Given the description of an element on the screen output the (x, y) to click on. 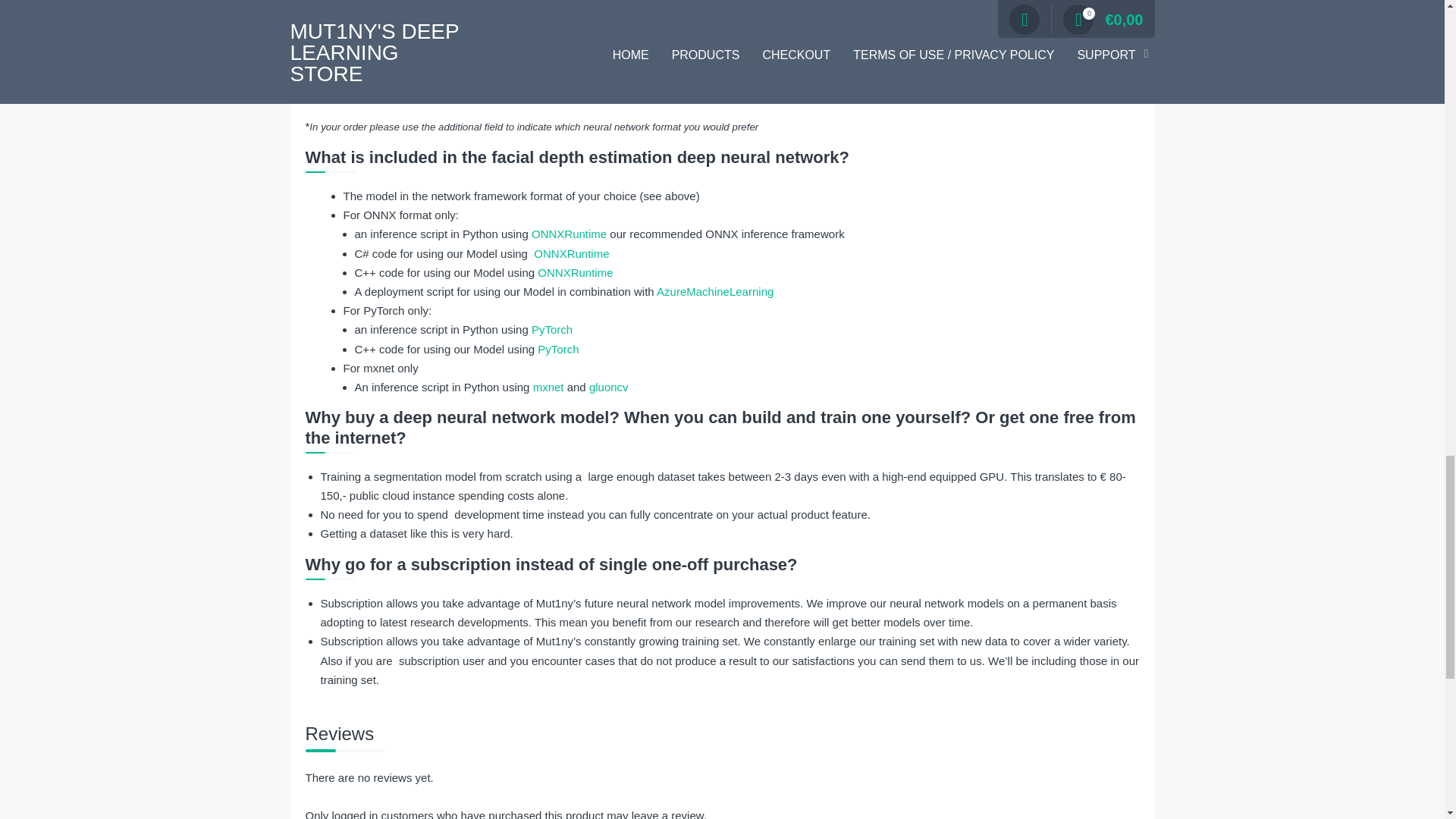
AzureMachineLearning (714, 291)
ONNXRuntime (574, 272)
gluoncv (608, 386)
PyTorch (551, 328)
ONNXRuntime (571, 253)
PyTorch (557, 349)
mxnet (548, 386)
ONNXRuntime (569, 233)
